Given the description of an element on the screen output the (x, y) to click on. 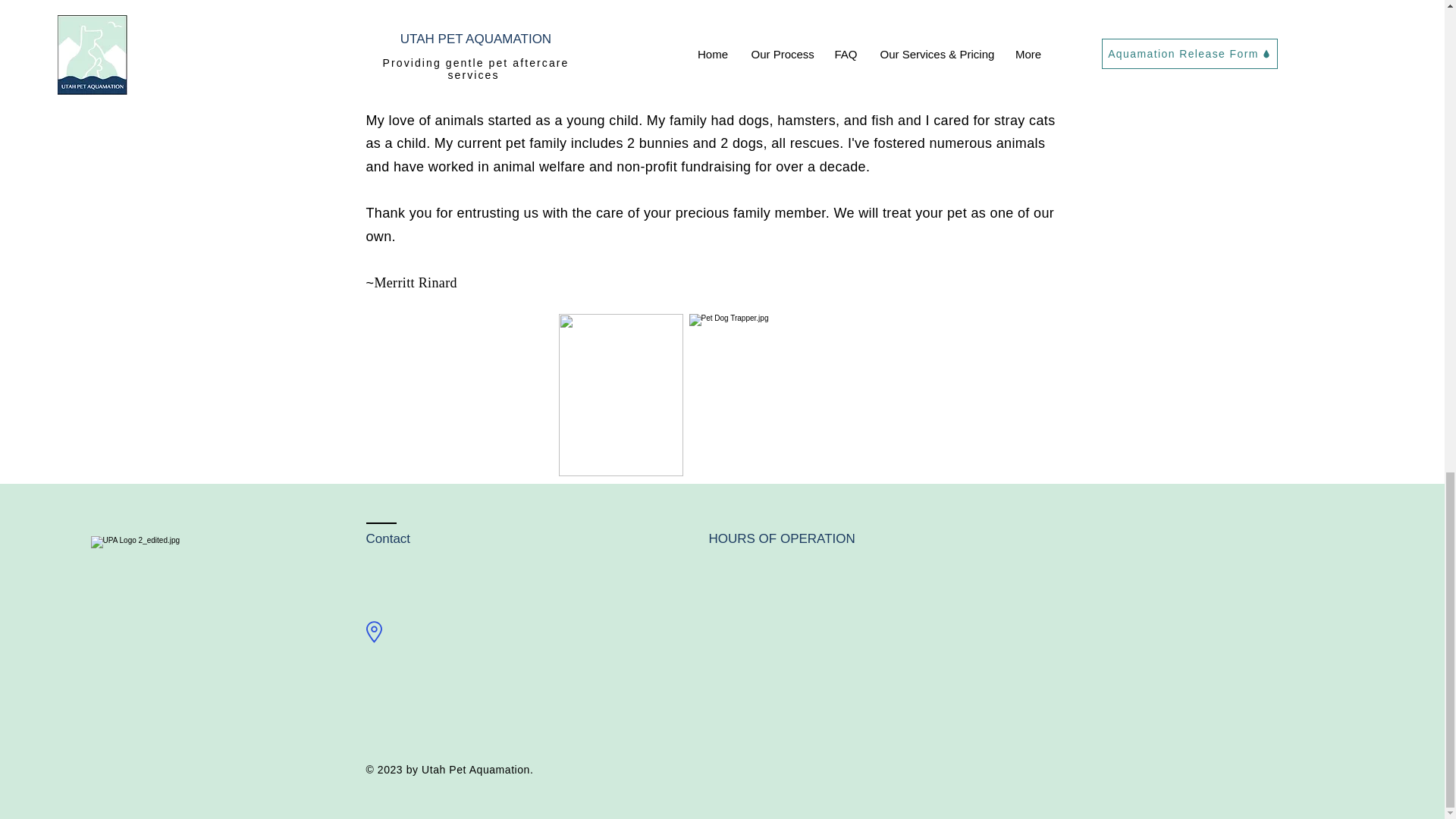
Merritt headshot.png (619, 394)
